Given the description of an element on the screen output the (x, y) to click on. 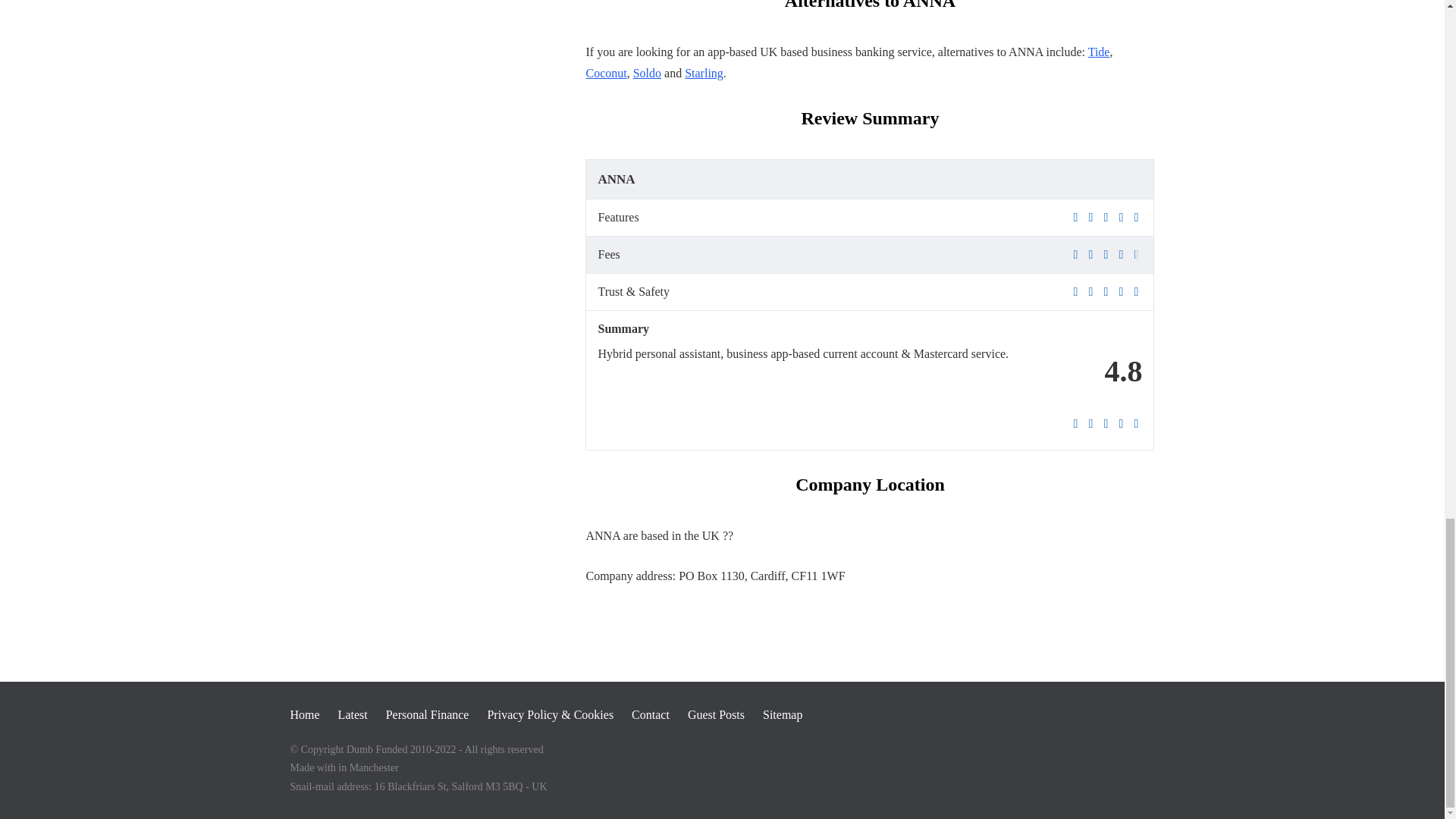
Latest (352, 714)
Tide (1098, 51)
Starling (703, 72)
Soldo (647, 72)
Home (303, 714)
Sitemap (782, 714)
Contact (650, 714)
Guest Posts (715, 714)
Personal Finance (426, 714)
Coconut (605, 72)
